Given the description of an element on the screen output the (x, y) to click on. 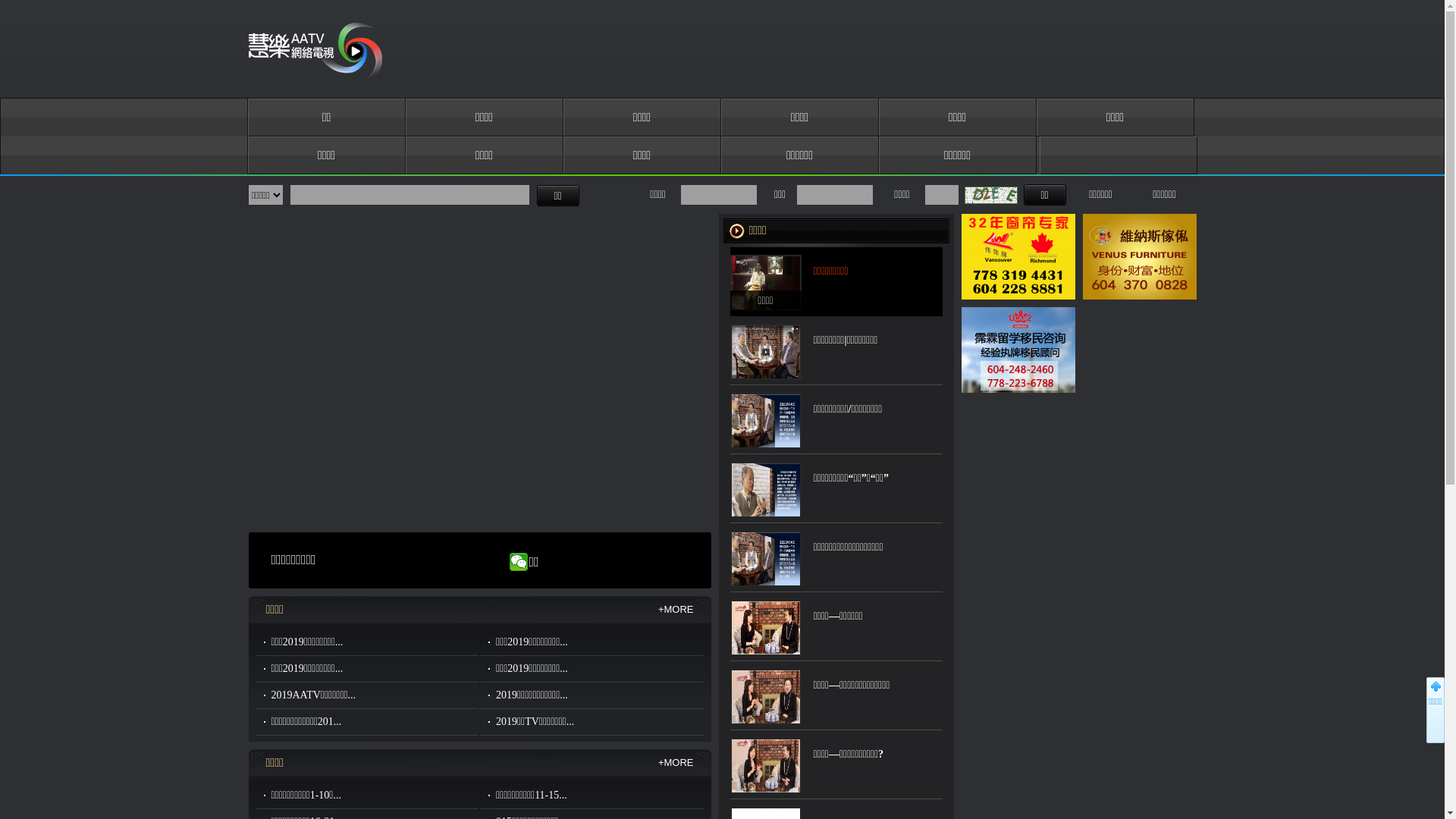
+MORE Element type: text (675, 762)
+MORE Element type: text (675, 609)
